Given the description of an element on the screen output the (x, y) to click on. 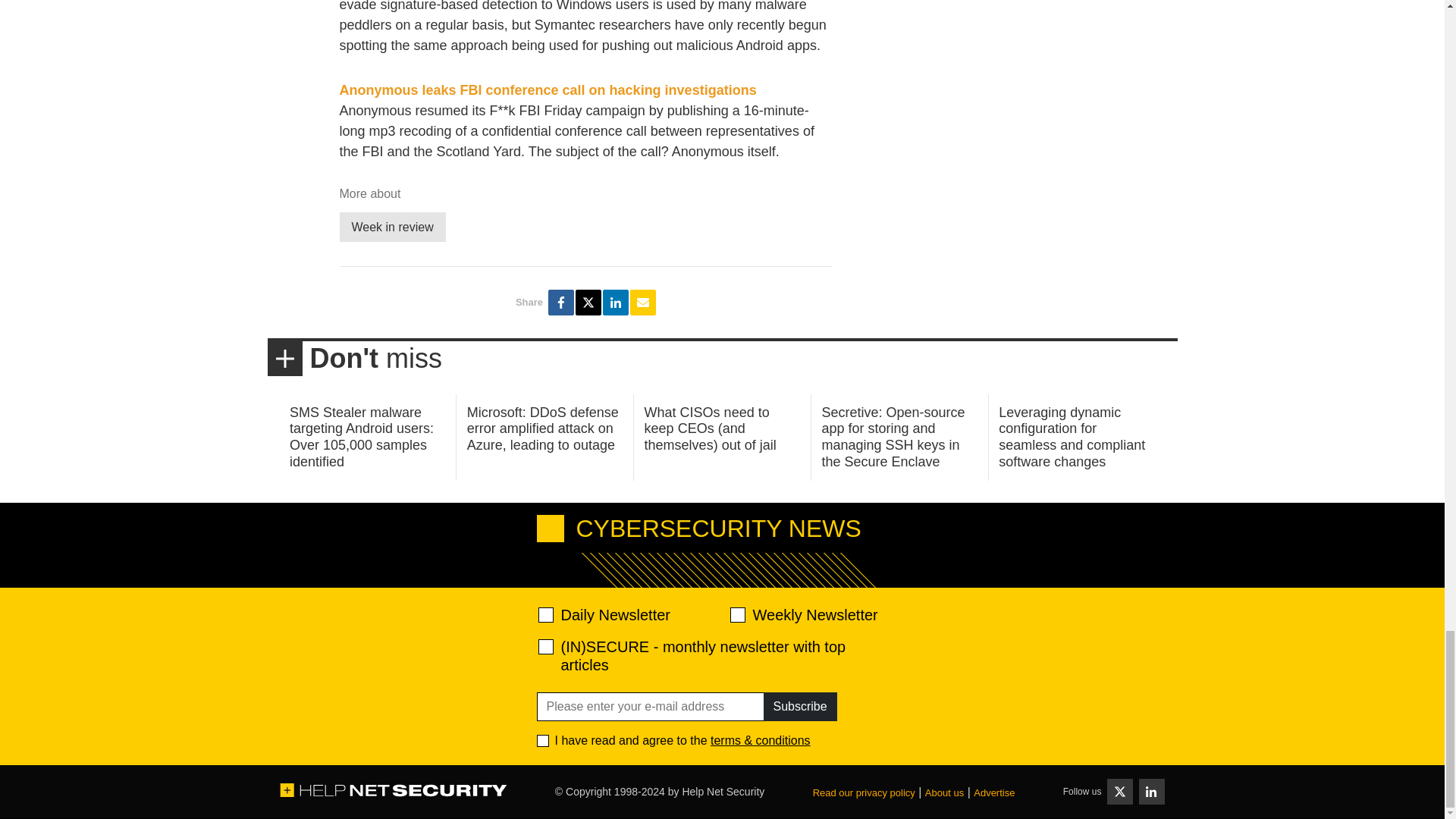
1 (542, 740)
d2d471aafa (736, 614)
Week in review (392, 226)
28abe5d9ef (545, 646)
520ac2f639 (545, 614)
